Given the description of an element on the screen output the (x, y) to click on. 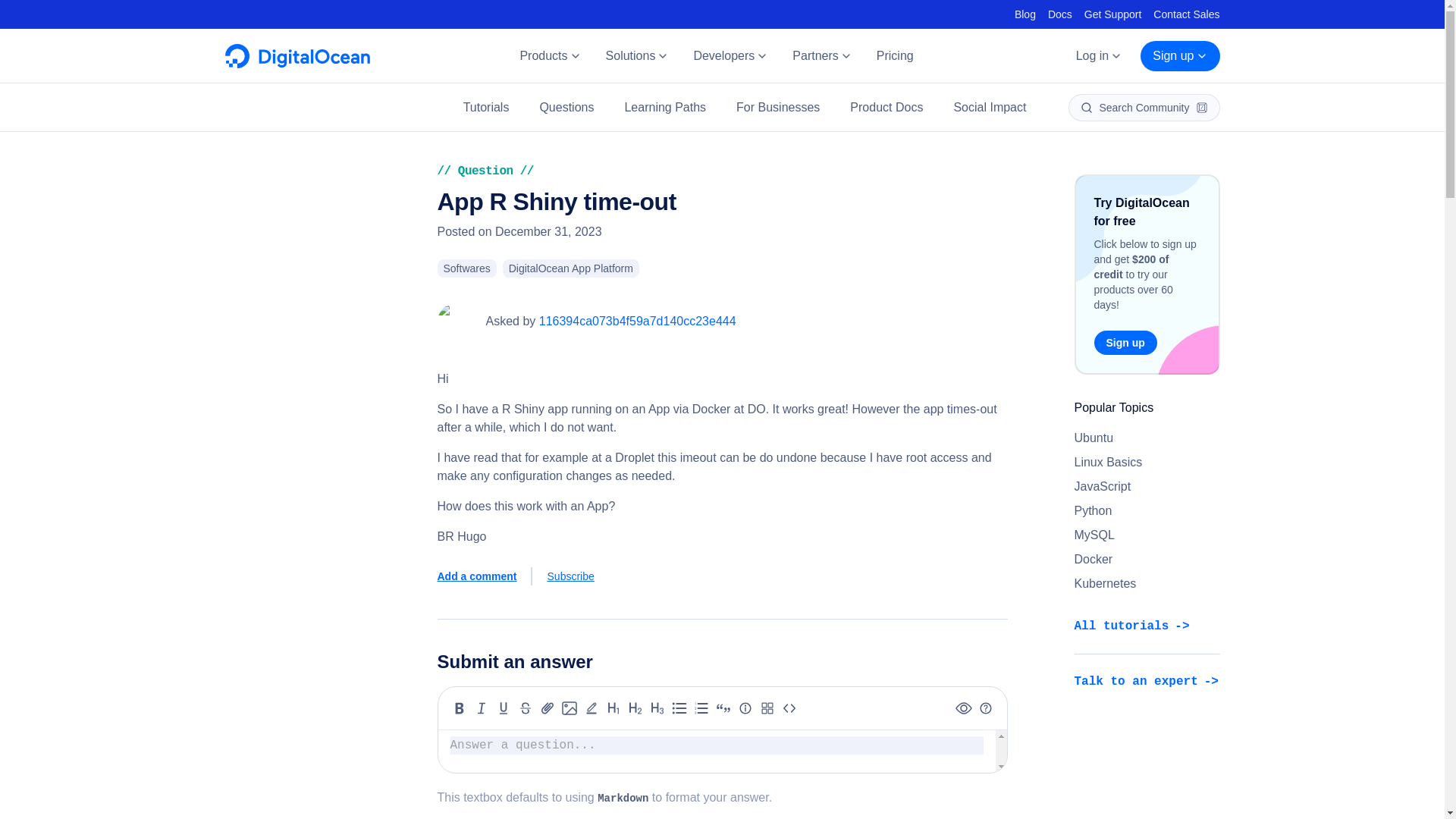
DigitalOcean (296, 63)
Preview (962, 708)
Bold (458, 708)
Get Support (1112, 14)
Image (568, 708)
Callout (744, 708)
Highlight (590, 708)
Heading 2 (635, 708)
Underline (503, 708)
Code (787, 708)
